Given the description of an element on the screen output the (x, y) to click on. 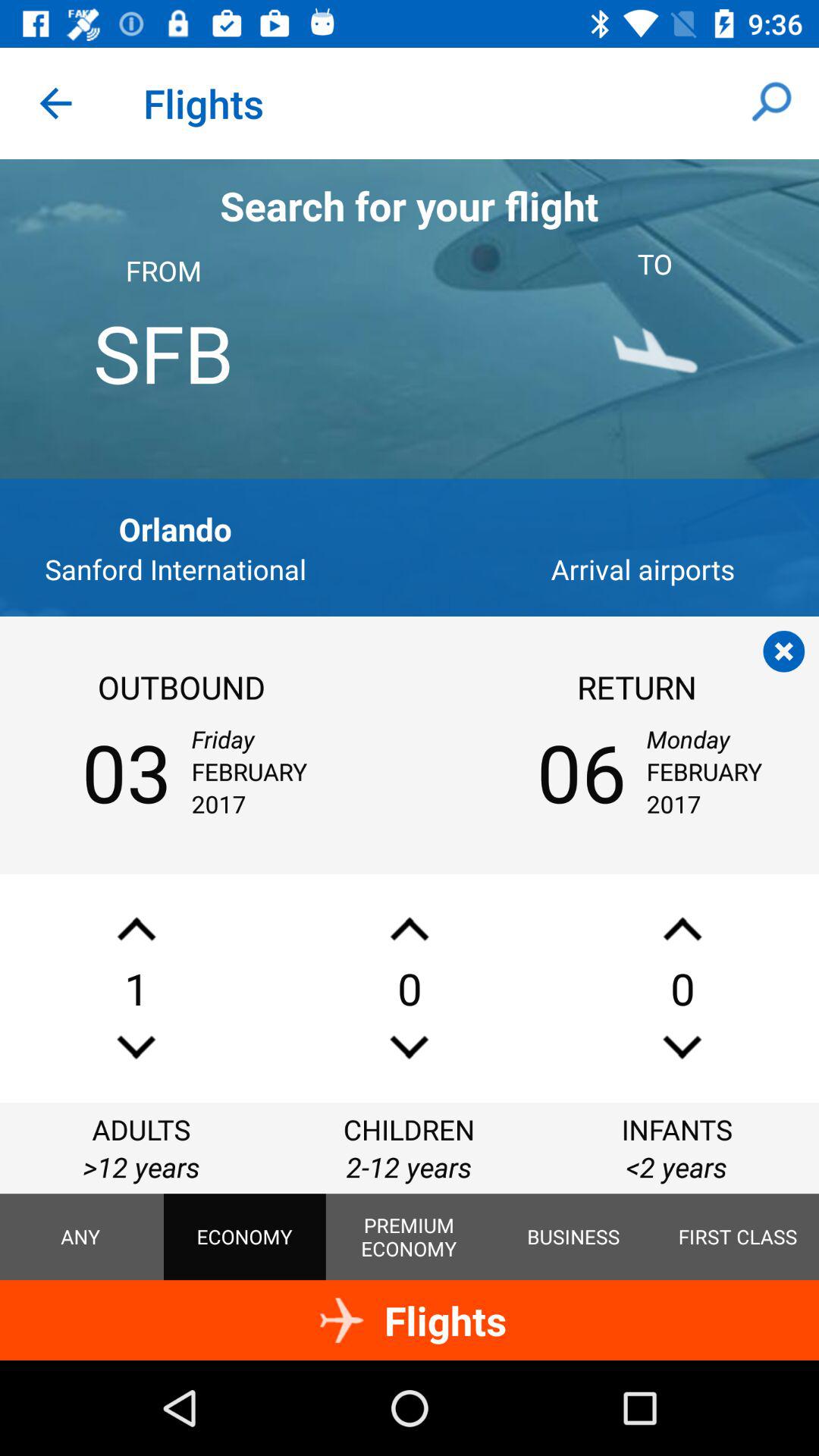
less infant tickets (682, 1047)
